Given the description of an element on the screen output the (x, y) to click on. 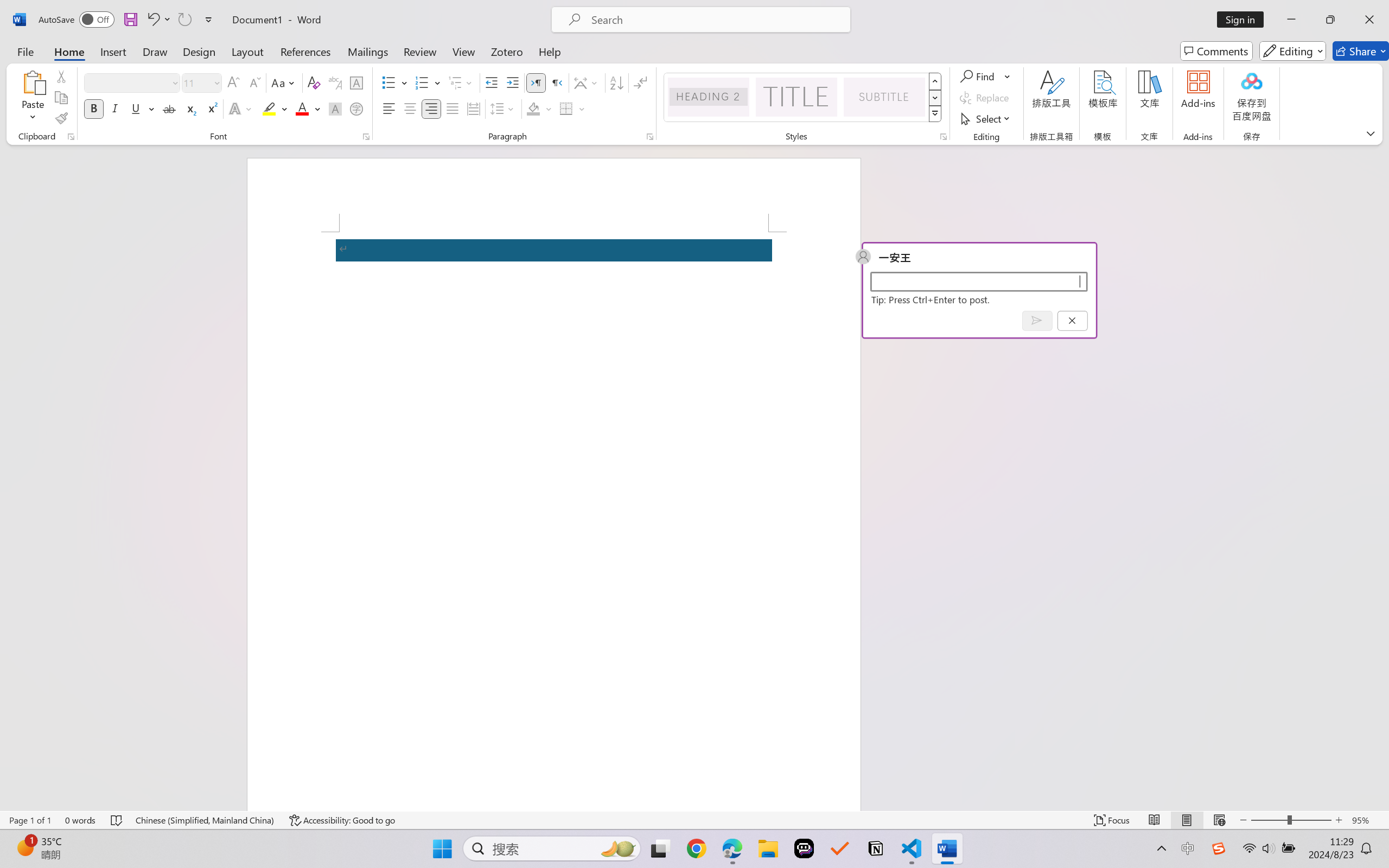
Cancel (1072, 320)
